Given the description of an element on the screen output the (x, y) to click on. 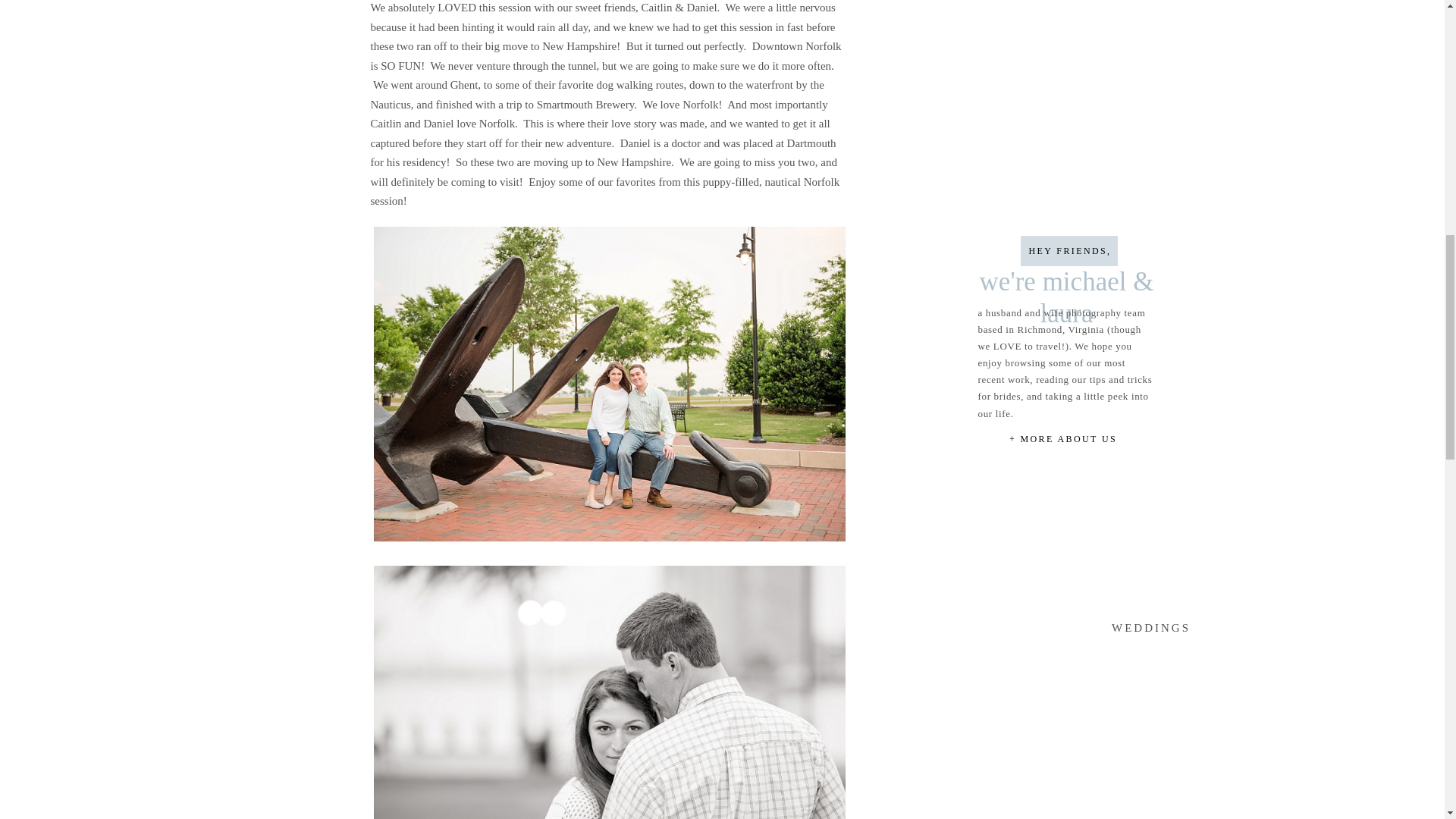
HEY FRIENDS, (1070, 251)
